Given the description of an element on the screen output the (x, y) to click on. 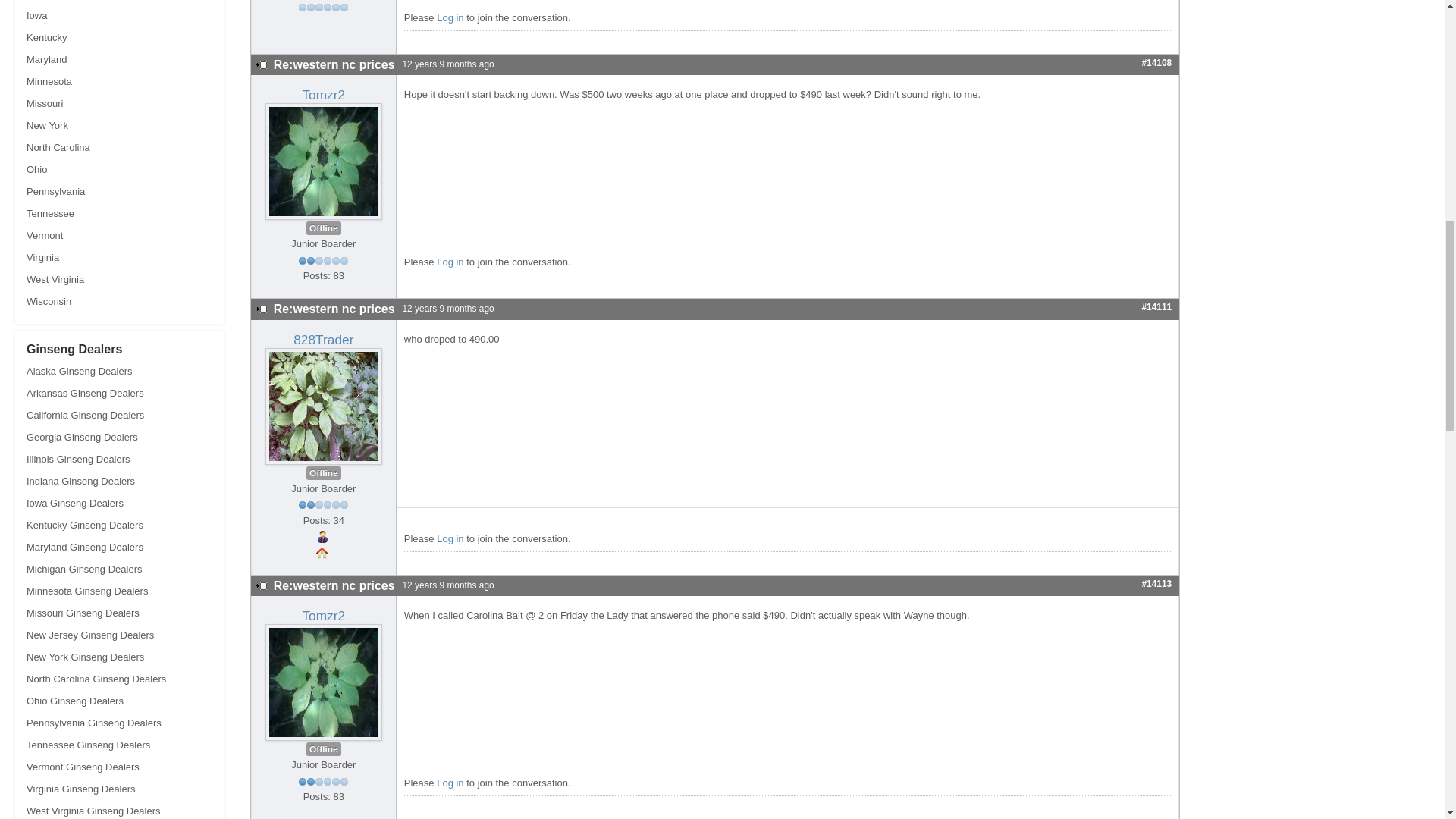
Log in (449, 17)
03 Oct 2011 18:08 (443, 63)
